Given the description of an element on the screen output the (x, y) to click on. 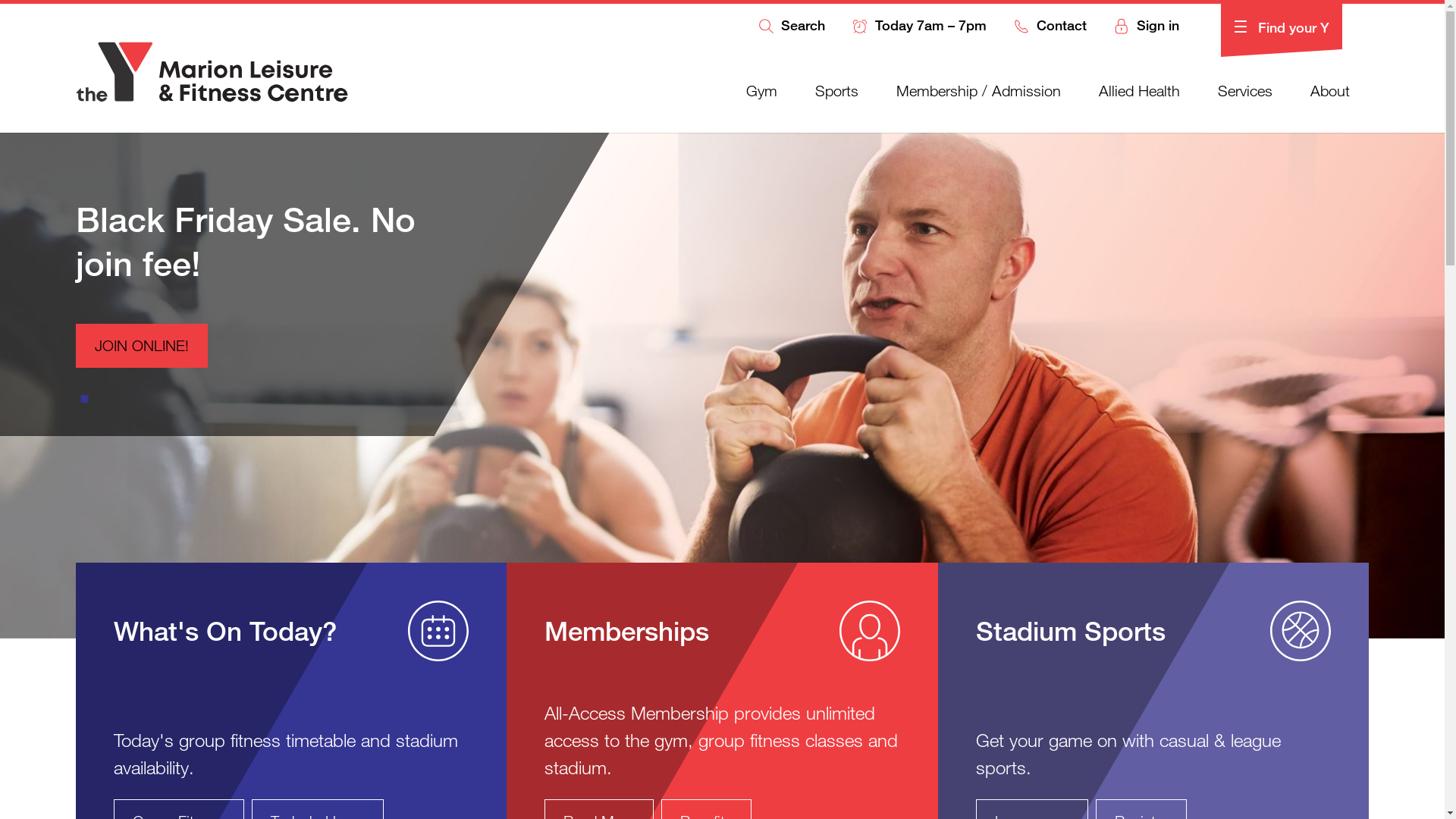
JOIN ONLINE! Element type: text (141, 345)
About Element type: text (1329, 90)
Contact Element type: text (1049, 26)
Gym Element type: text (761, 90)
1 Element type: text (90, 398)
Sign in Element type: text (1146, 26)
Search Element type: text (791, 26)
Allied Health Element type: text (1138, 90)
Services Element type: text (1244, 90)
Membership / Admission Element type: text (978, 90)
Sports Element type: text (836, 90)
